Given the description of an element on the screen output the (x, y) to click on. 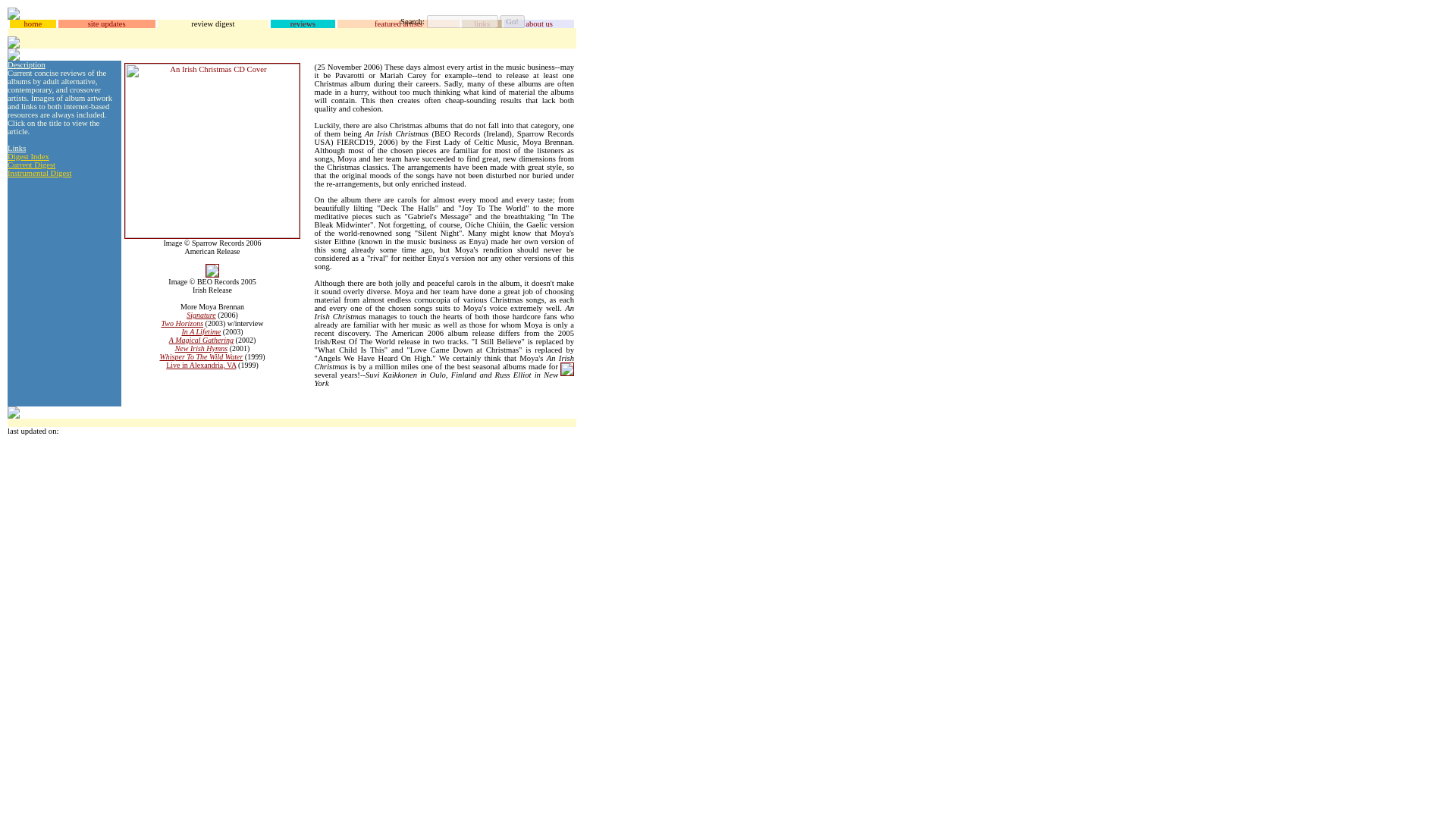
A Magical Gathering (200, 339)
In A Lifetime (200, 331)
Go! (511, 21)
New Irish Hymns (200, 347)
about us (539, 23)
featured artists (398, 23)
Instrumental Digest (39, 172)
Whisper To The Wild Water (200, 356)
Live in Alexandria, VA (200, 365)
home (32, 23)
